Given the description of an element on the screen output the (x, y) to click on. 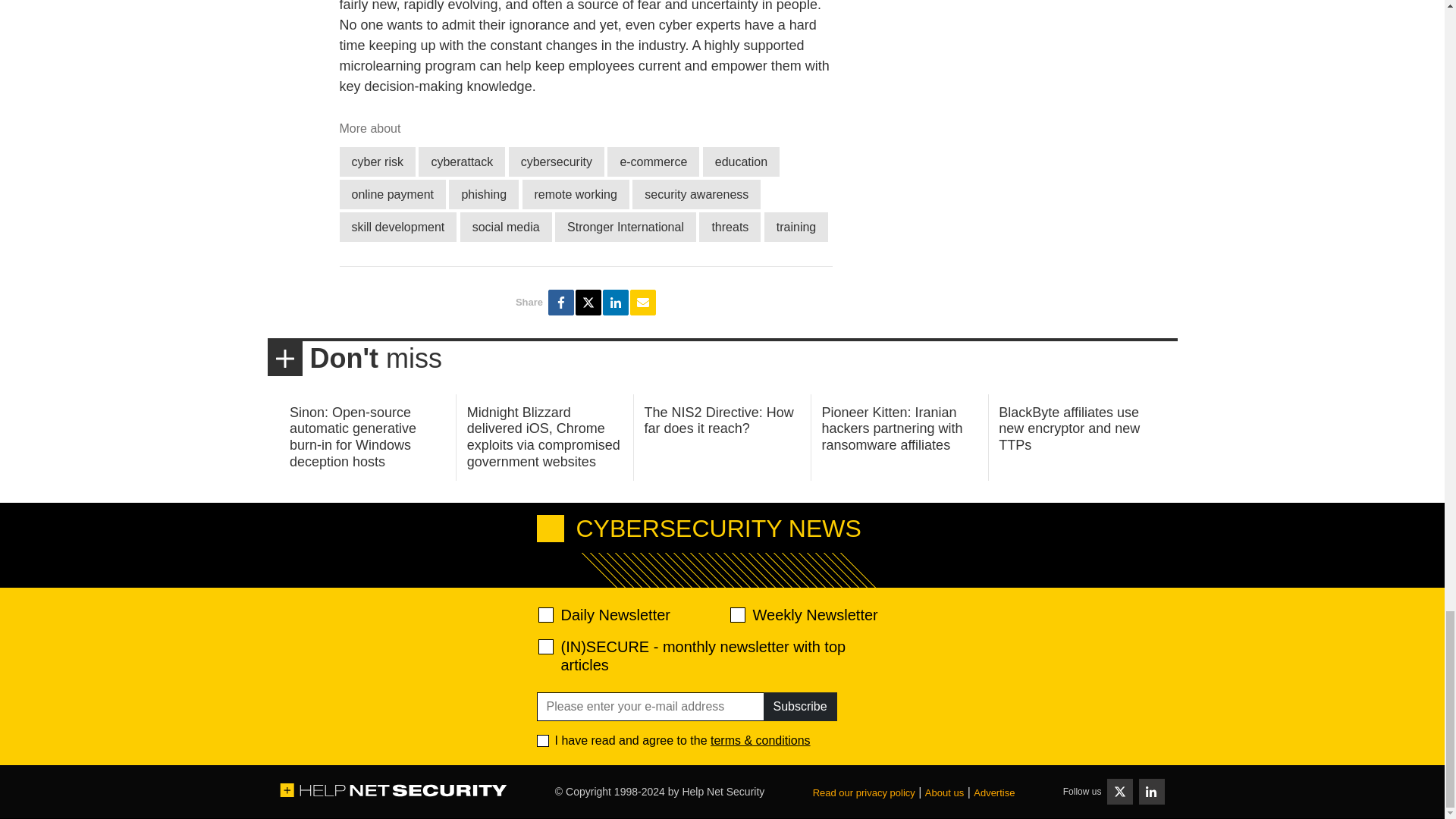
training (796, 226)
cyberattack (462, 161)
remote working (575, 194)
e-commerce (652, 161)
cyber risk (376, 161)
cyber risk (376, 161)
e-commerce (652, 161)
cybersecurity (556, 161)
1 (542, 740)
28abe5d9ef (545, 646)
